Given the description of an element on the screen output the (x, y) to click on. 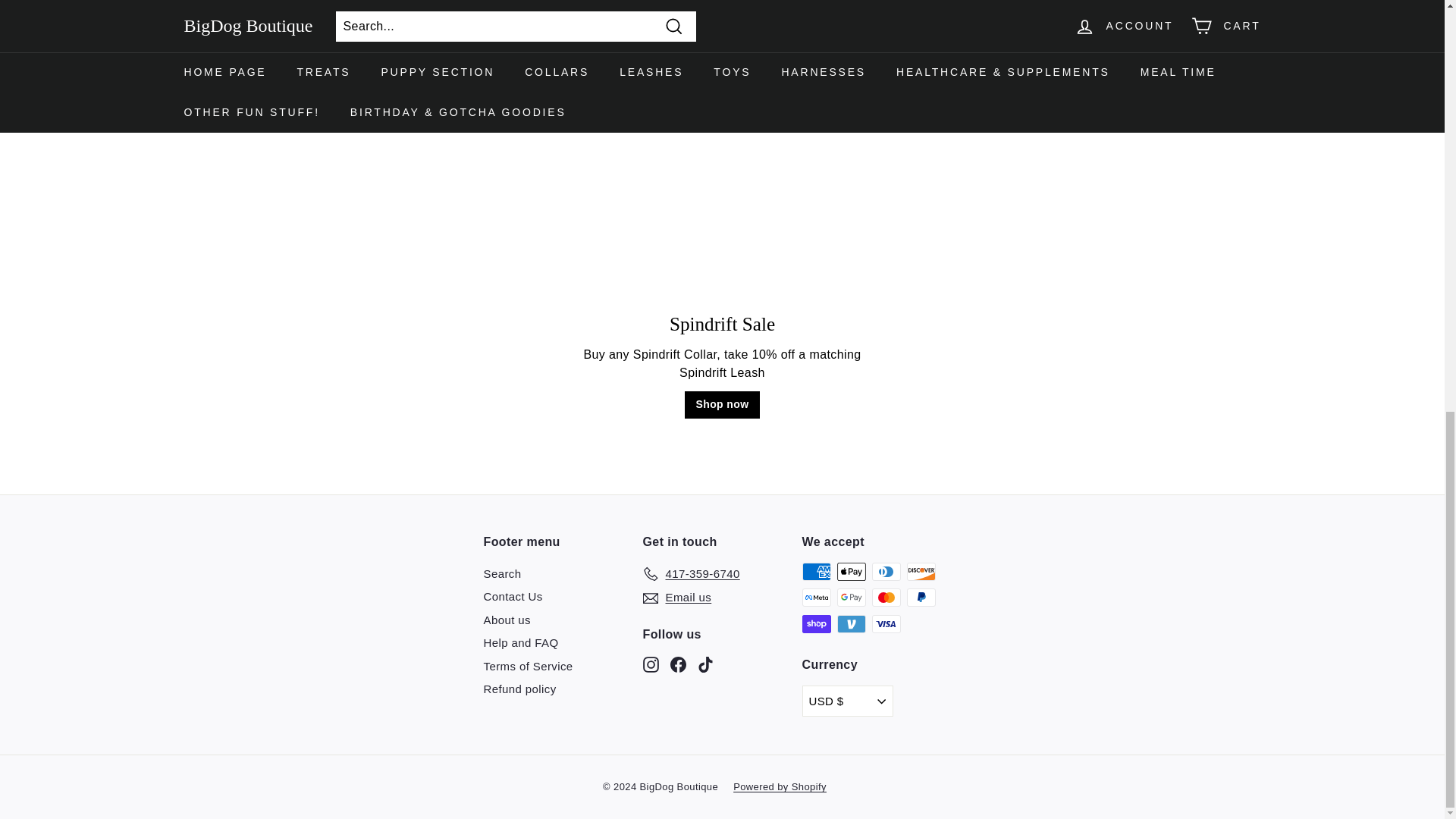
BigDog Boutique on TikTok (705, 663)
BigDog Boutique on Instagram (651, 663)
American Express (816, 571)
Discover (921, 571)
BigDog Boutique on Facebook (677, 663)
Apple Pay (851, 571)
Diners Club (886, 571)
